Given the description of an element on the screen output the (x, y) to click on. 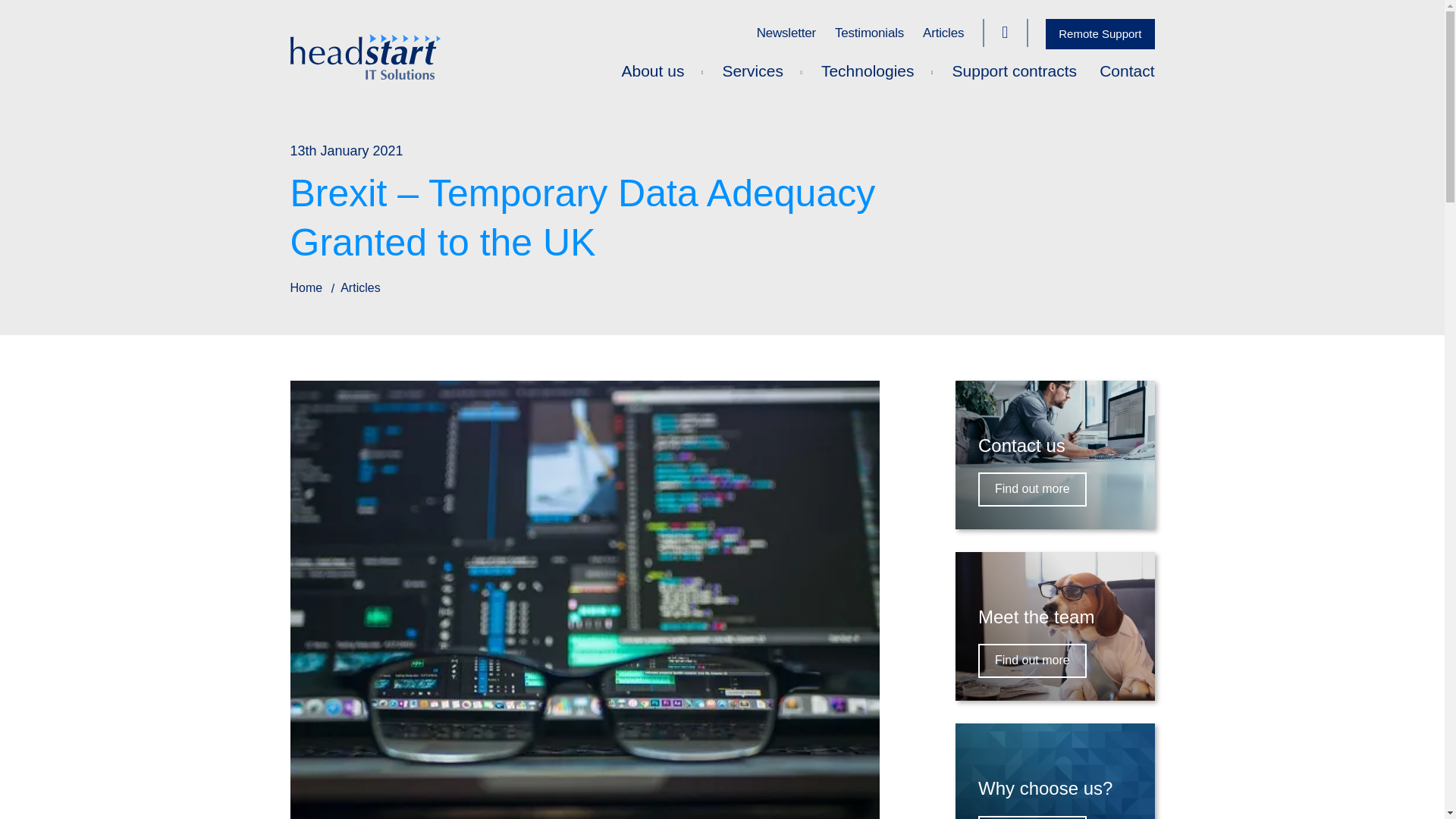
Headstart IT Solutions (721, 56)
Go to Headstart IT Solutions. (305, 287)
Go to Articles. (360, 287)
Remote Support (1099, 33)
